Given the description of an element on the screen output the (x, y) to click on. 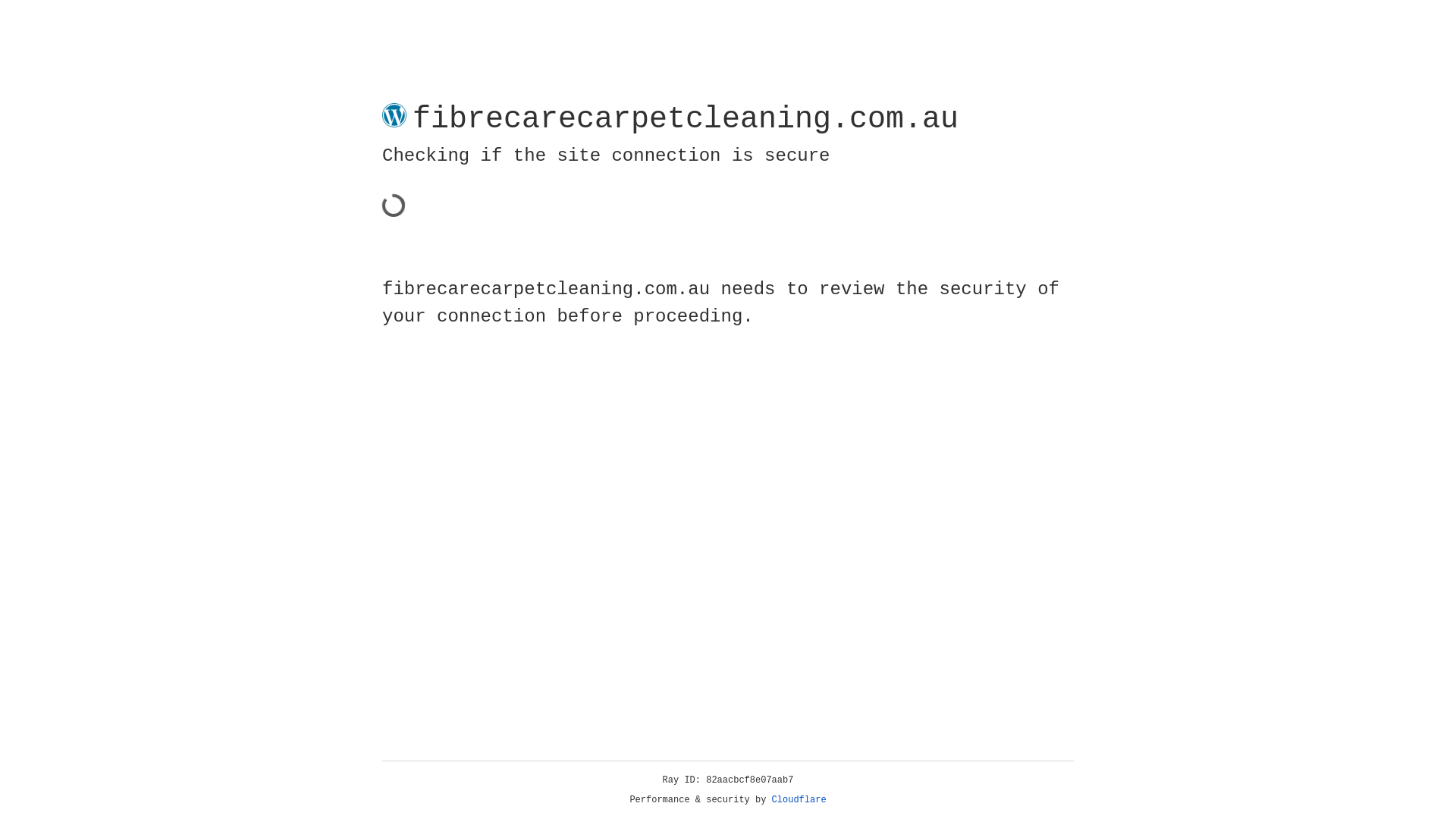
Cloudflare Element type: text (798, 799)
